Given the description of an element on the screen output the (x, y) to click on. 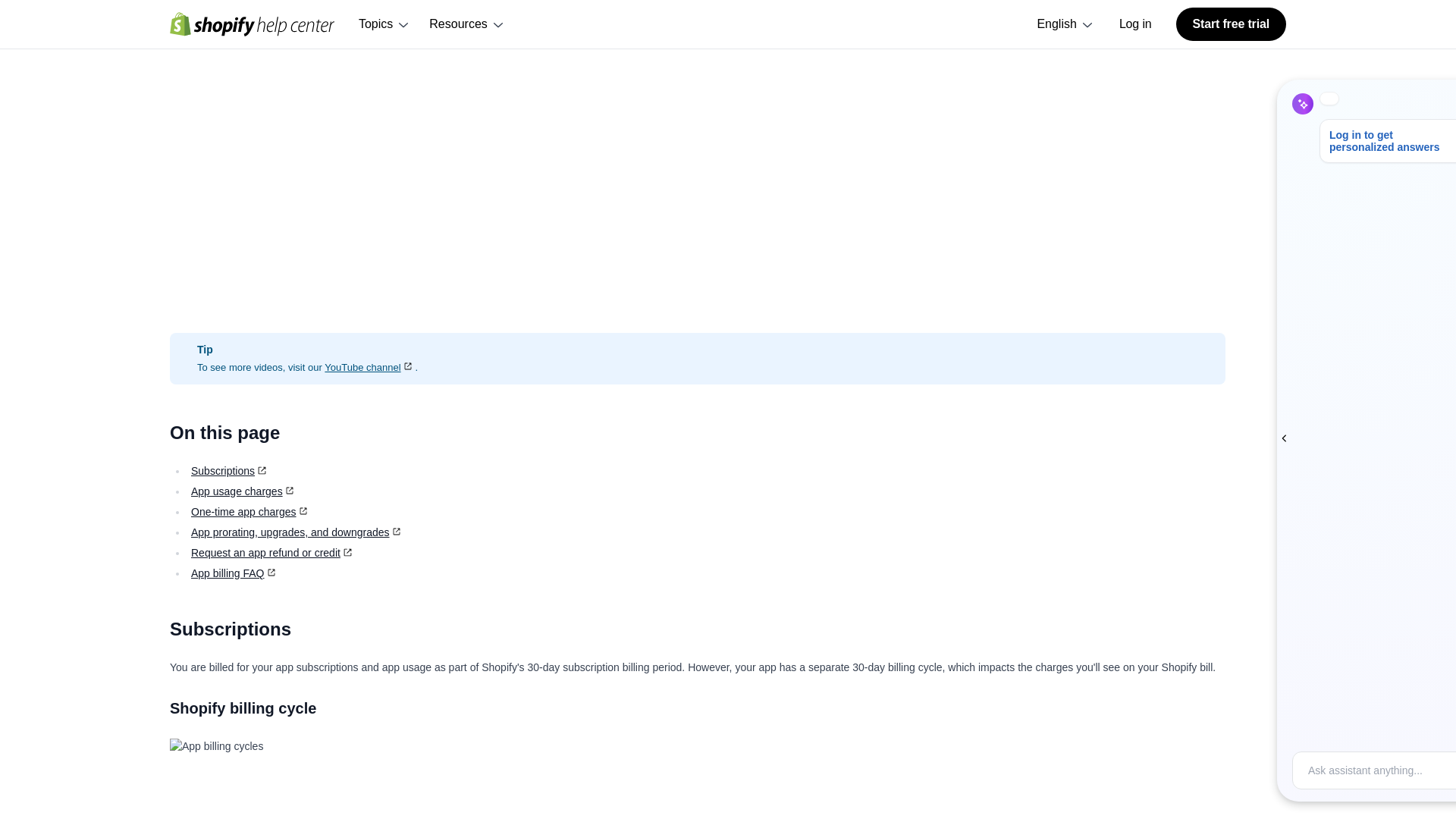
App usage charges (243, 491)
Subscriptions (229, 470)
App billing FAQ (234, 573)
YouTube channel (369, 367)
One-time app charges (250, 511)
Request an app refund or credit (272, 552)
App prorating, upgrades, and downgrades (296, 532)
